Given the description of an element on the screen output the (x, y) to click on. 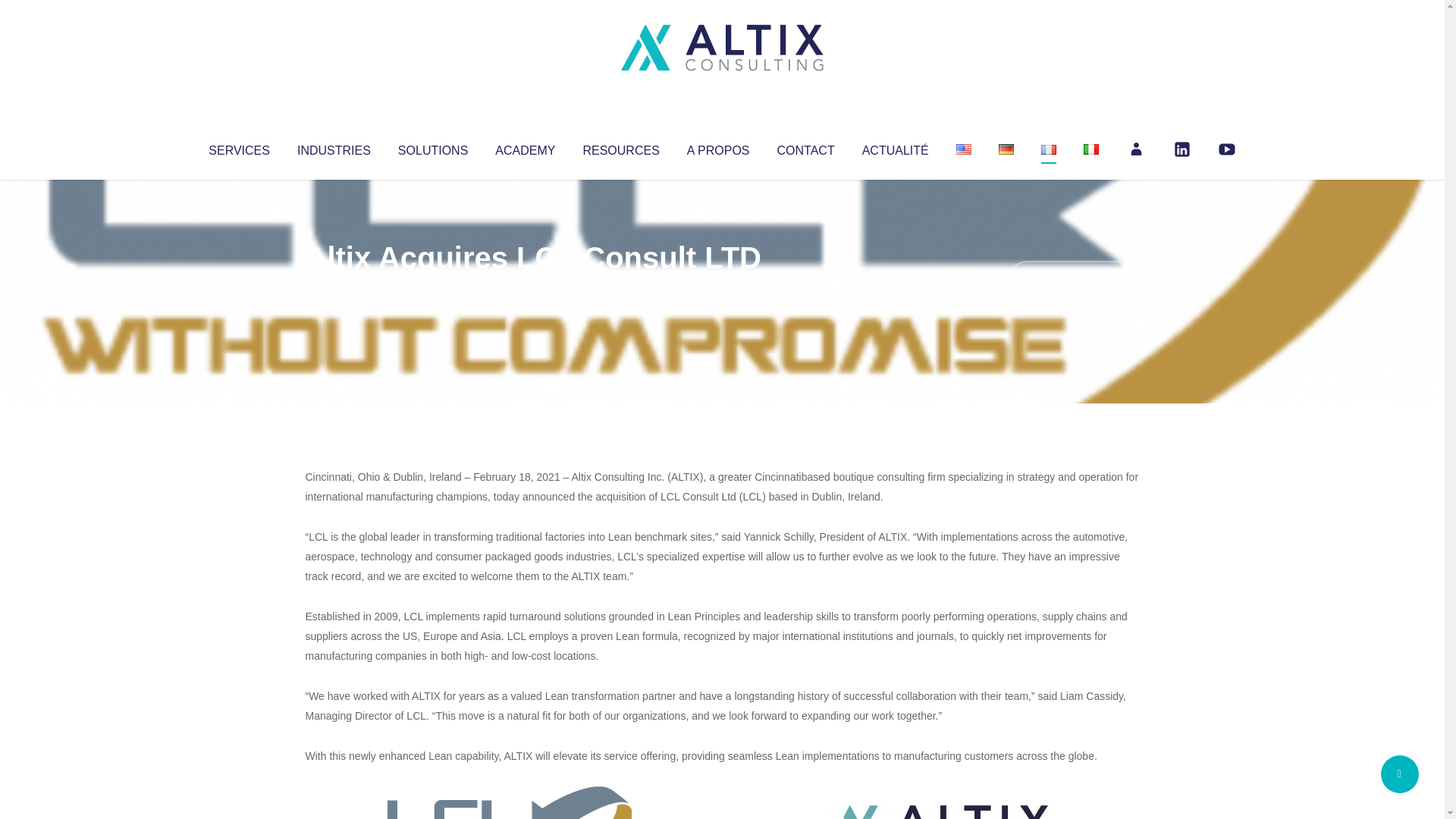
Uncategorized (530, 287)
SERVICES (238, 146)
SOLUTIONS (432, 146)
A PROPOS (718, 146)
ACADEMY (524, 146)
RESOURCES (620, 146)
Articles par Altix (333, 287)
Altix (333, 287)
INDUSTRIES (334, 146)
No Comments (1073, 278)
